Given the description of an element on the screen output the (x, y) to click on. 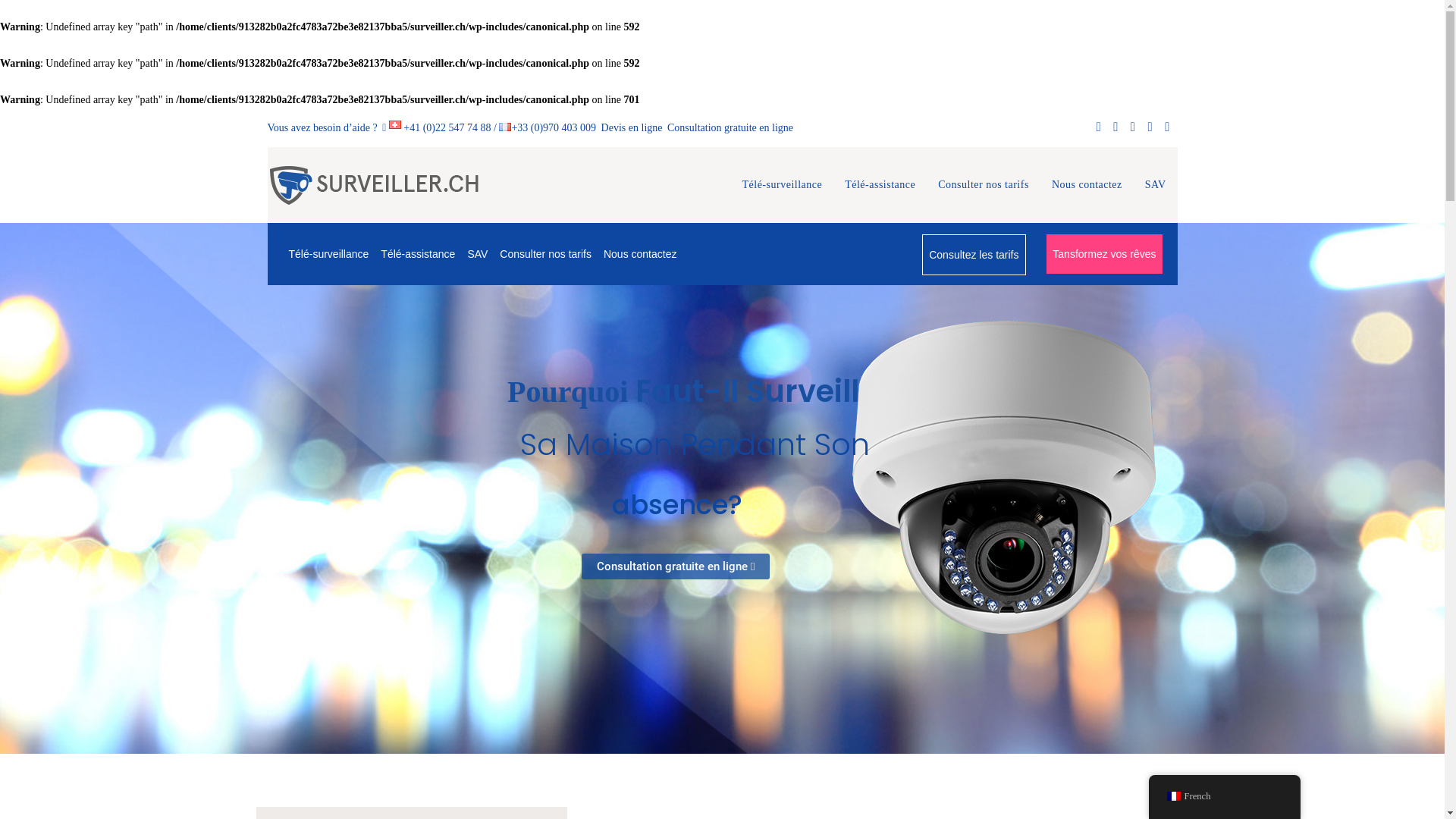
Nous contactez Element type: text (640, 253)
Consulter nos tarifs Element type: text (983, 184)
Consultation gratuite en ligne Element type: text (729, 127)
Consulter nos tarifs Element type: text (545, 253)
SAV Element type: text (477, 253)
Consultez les tarifs Element type: text (973, 254)
Nous contactez Element type: text (1086, 184)
French Element type: hover (1172, 795)
SAV Element type: text (1155, 184)
Devis en ligne Element type: text (630, 127)
French Element type: text (1223, 795)
Consultation gratuite en ligne Element type: text (675, 566)
